Given the description of an element on the screen output the (x, y) to click on. 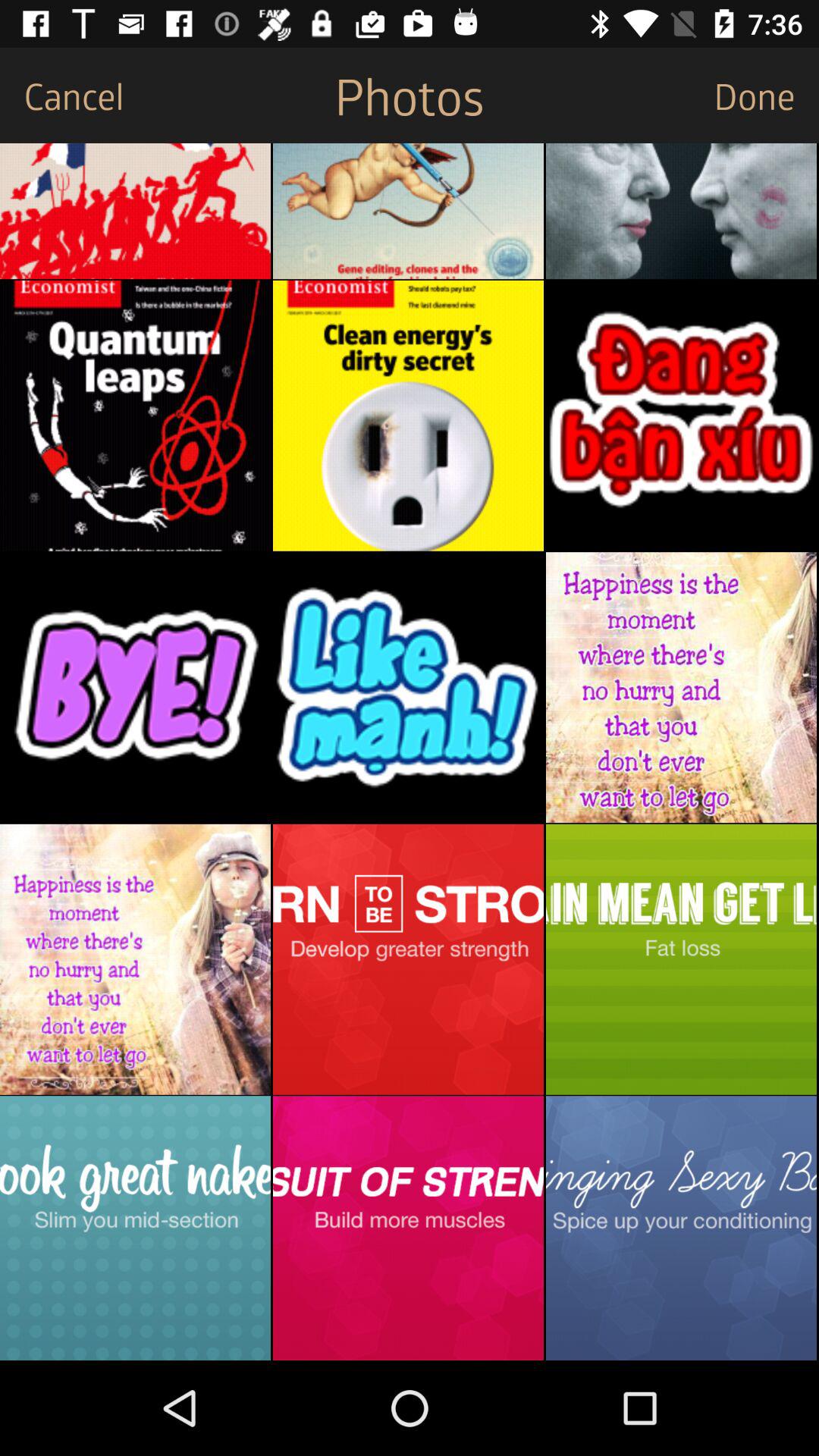
gallery image (135, 687)
